Given the description of an element on the screen output the (x, y) to click on. 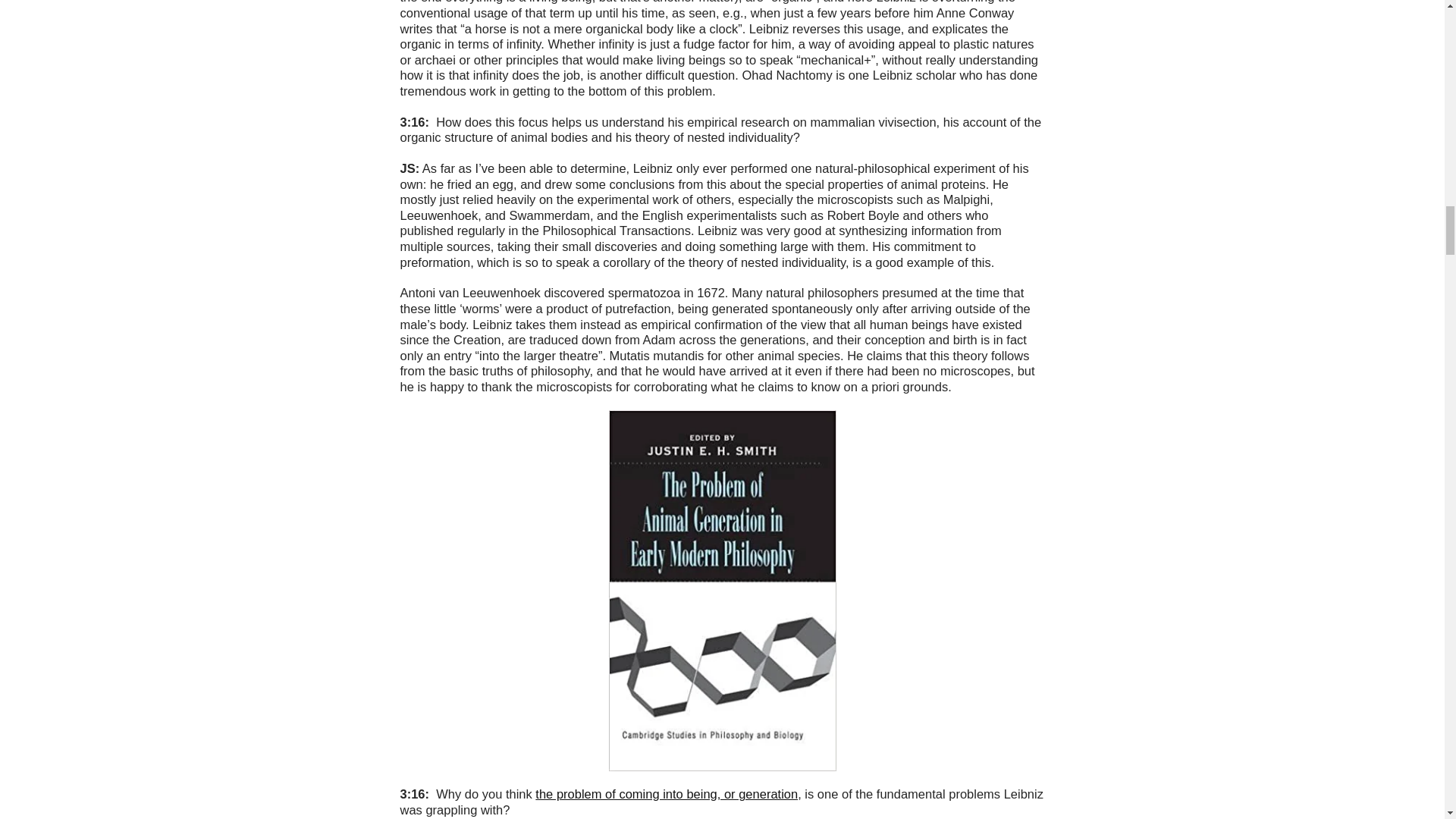
the problem of coming into being, or generation (666, 793)
